Given the description of an element on the screen output the (x, y) to click on. 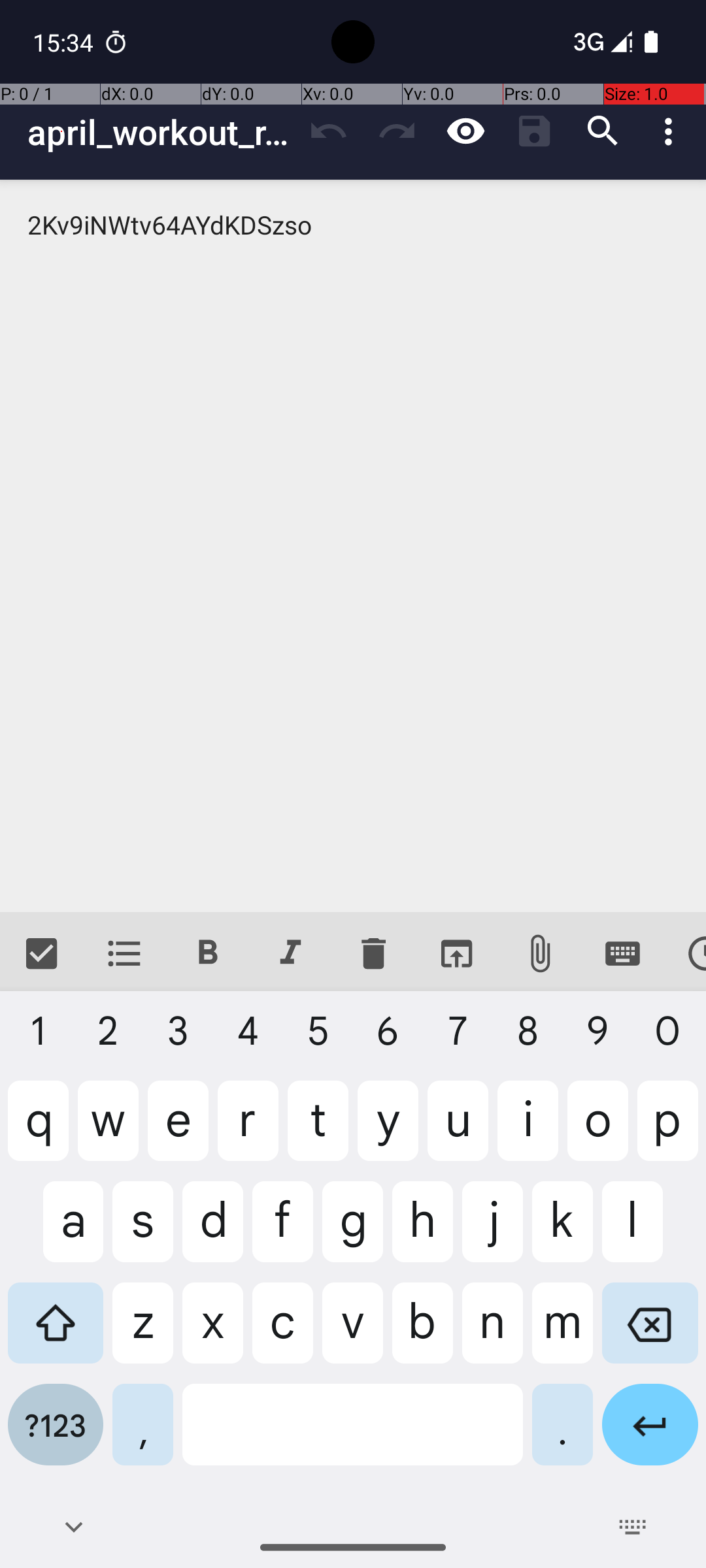
april_workout_routine_ucuU Element type: android.widget.TextView (160, 131)
2Kv9iNWtv64AYdKDSzso
 Element type: android.widget.EditText (353, 545)
